Given the description of an element on the screen output the (x, y) to click on. 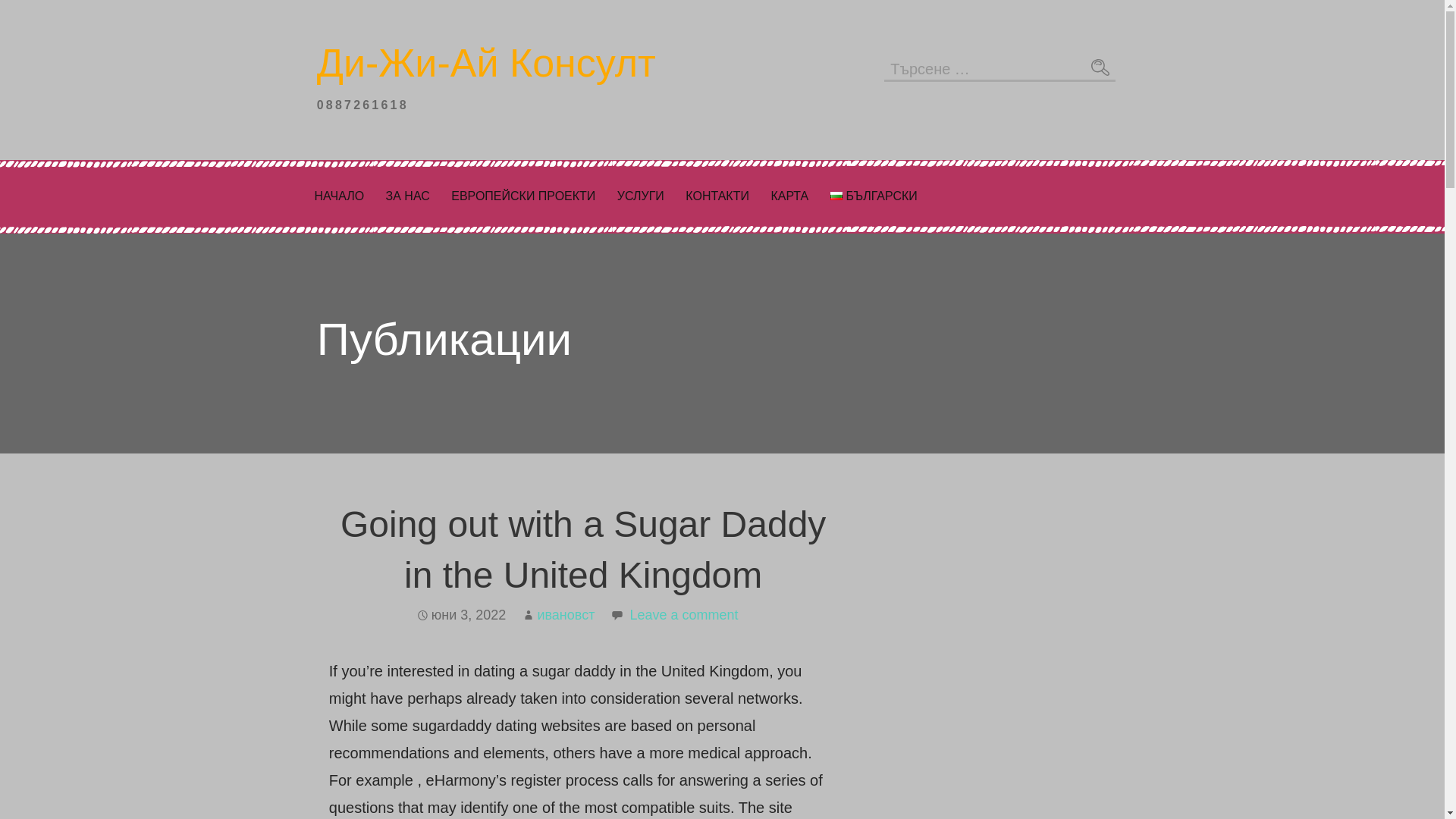
Leave a comment (683, 614)
